Given the description of an element on the screen output the (x, y) to click on. 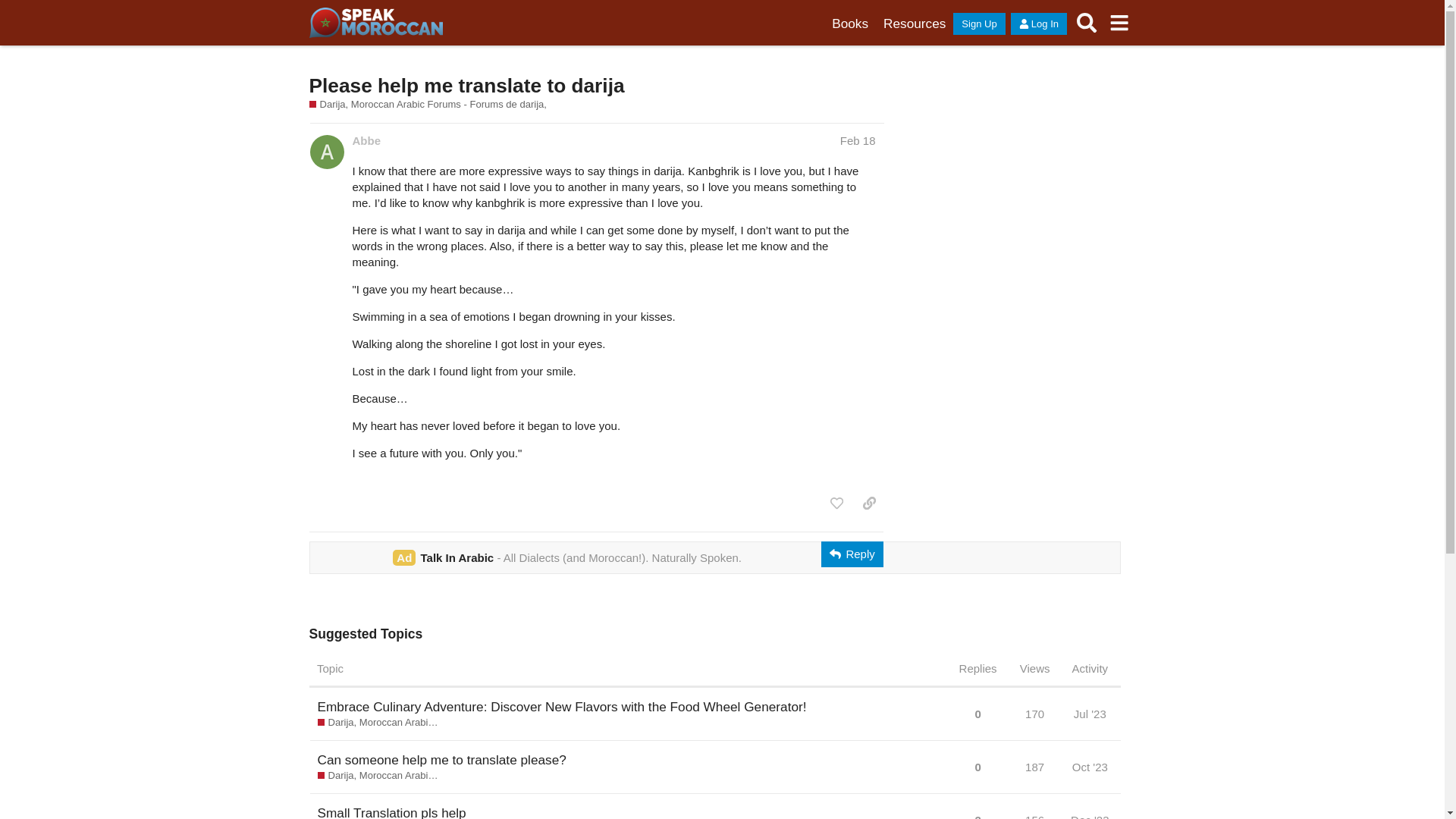
Books (850, 23)
Please help me translate to darija (466, 85)
Abbe (366, 140)
Darija, Moroccan Arabic Forums - Forums de darija, (427, 104)
Oct '23 (1090, 766)
like this post (836, 503)
this topic has been viewed 187 times (1034, 766)
Resources (914, 23)
share a link to this post (869, 503)
Moroccan Arabic books (850, 23)
Log In (1038, 24)
